Given the description of an element on the screen output the (x, y) to click on. 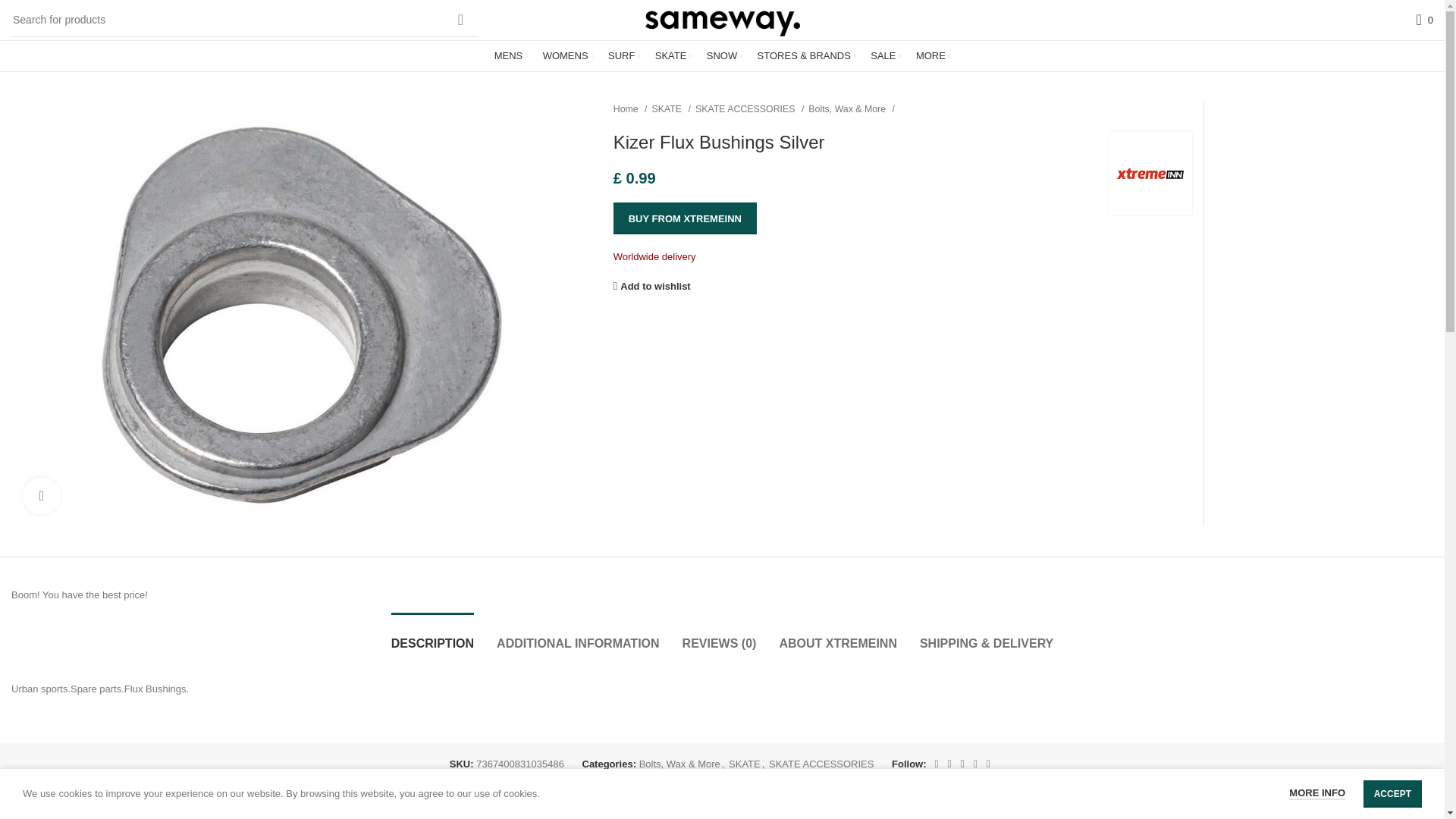
My Wishlist (1424, 19)
Xtremeinn (1150, 173)
SEARCH (459, 19)
Search for products (245, 19)
MENS (511, 55)
0 (1424, 19)
